Given the description of an element on the screen output the (x, y) to click on. 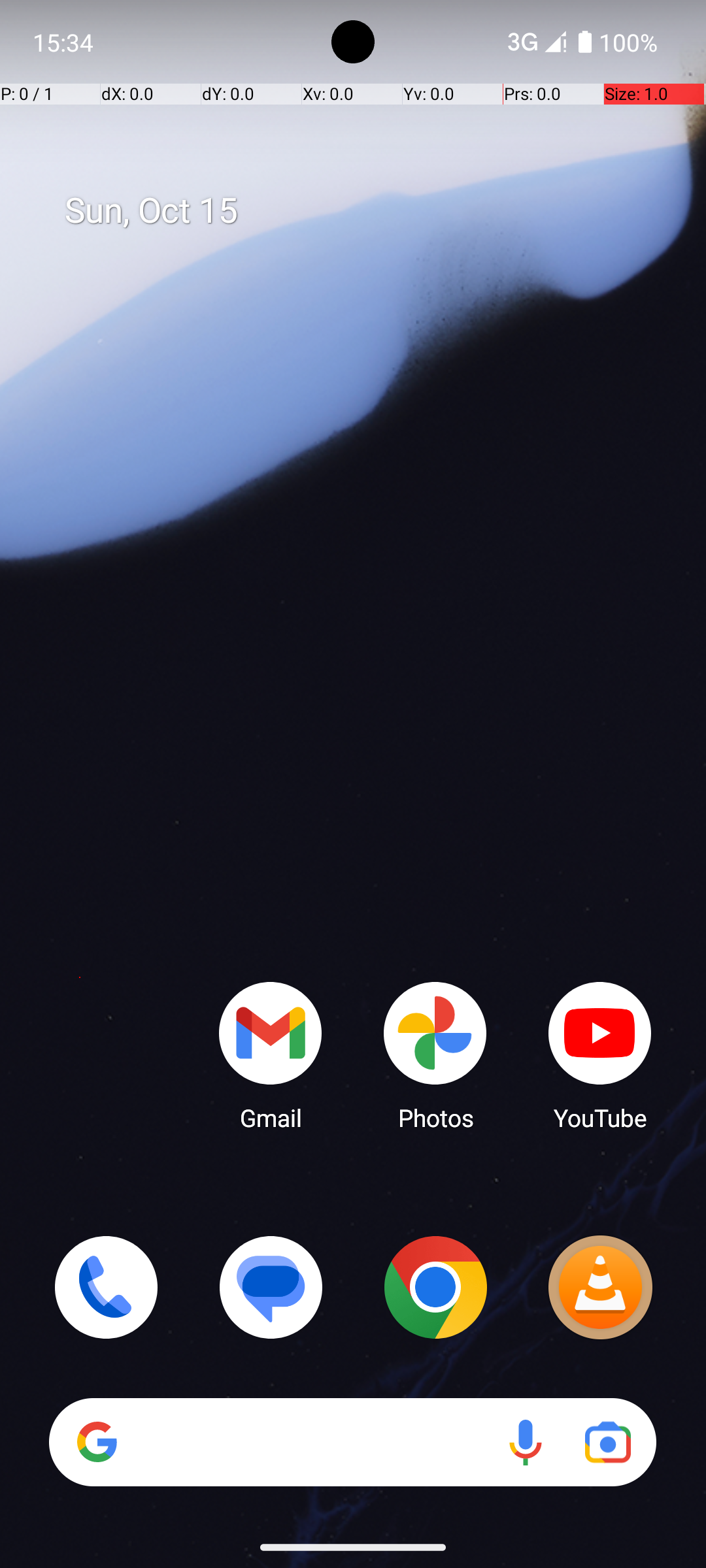
VLC Element type: android.widget.TextView (599, 1287)
Sun, Oct 15 Element type: android.widget.TextView (366, 210)
